Given the description of an element on the screen output the (x, y) to click on. 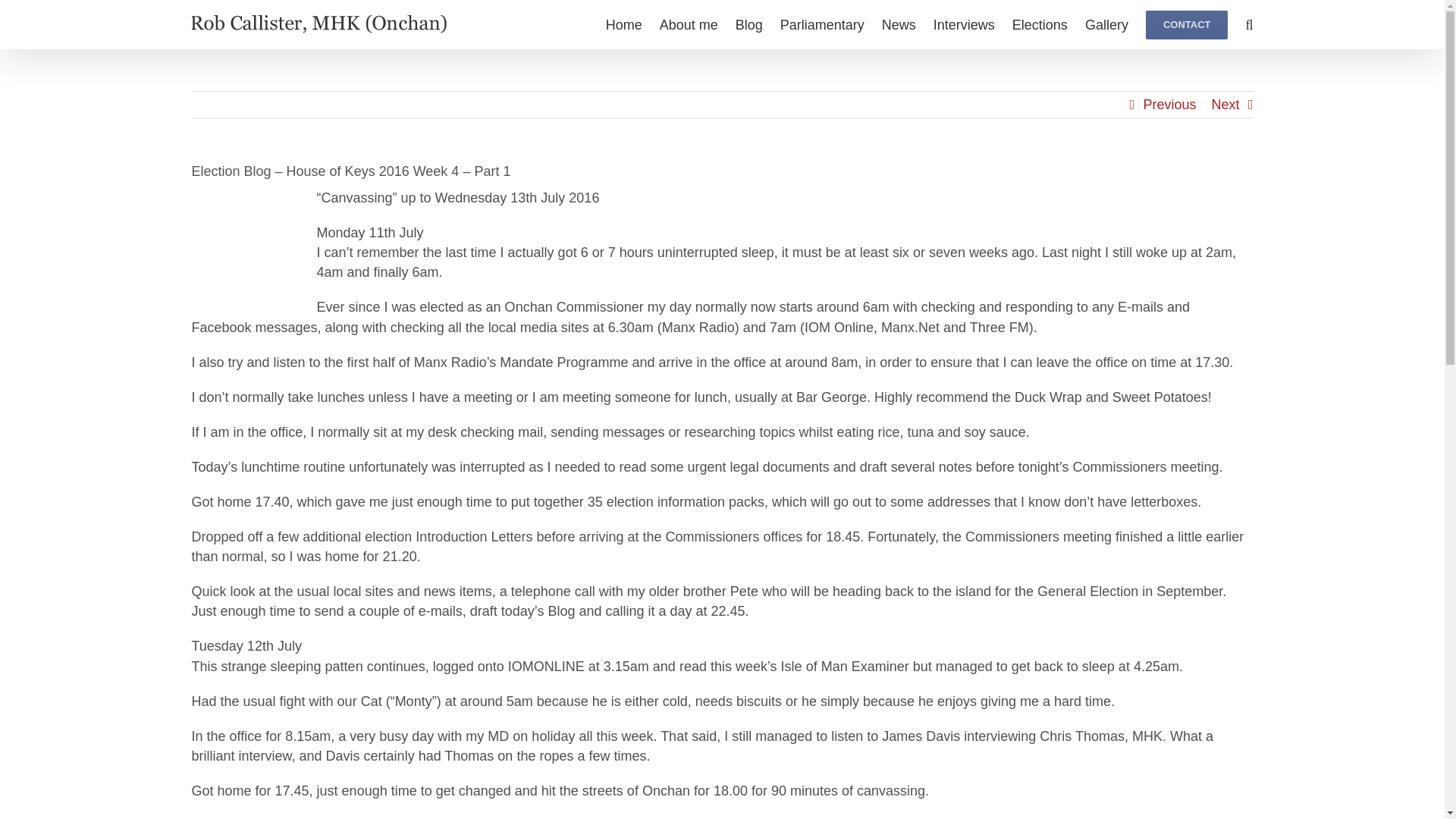
Next (1225, 104)
Previous (1168, 104)
Parliamentary (822, 24)
About me (688, 24)
Elections (1039, 24)
Interviews (963, 24)
CONTACT (1186, 24)
